Given the description of an element on the screen output the (x, y) to click on. 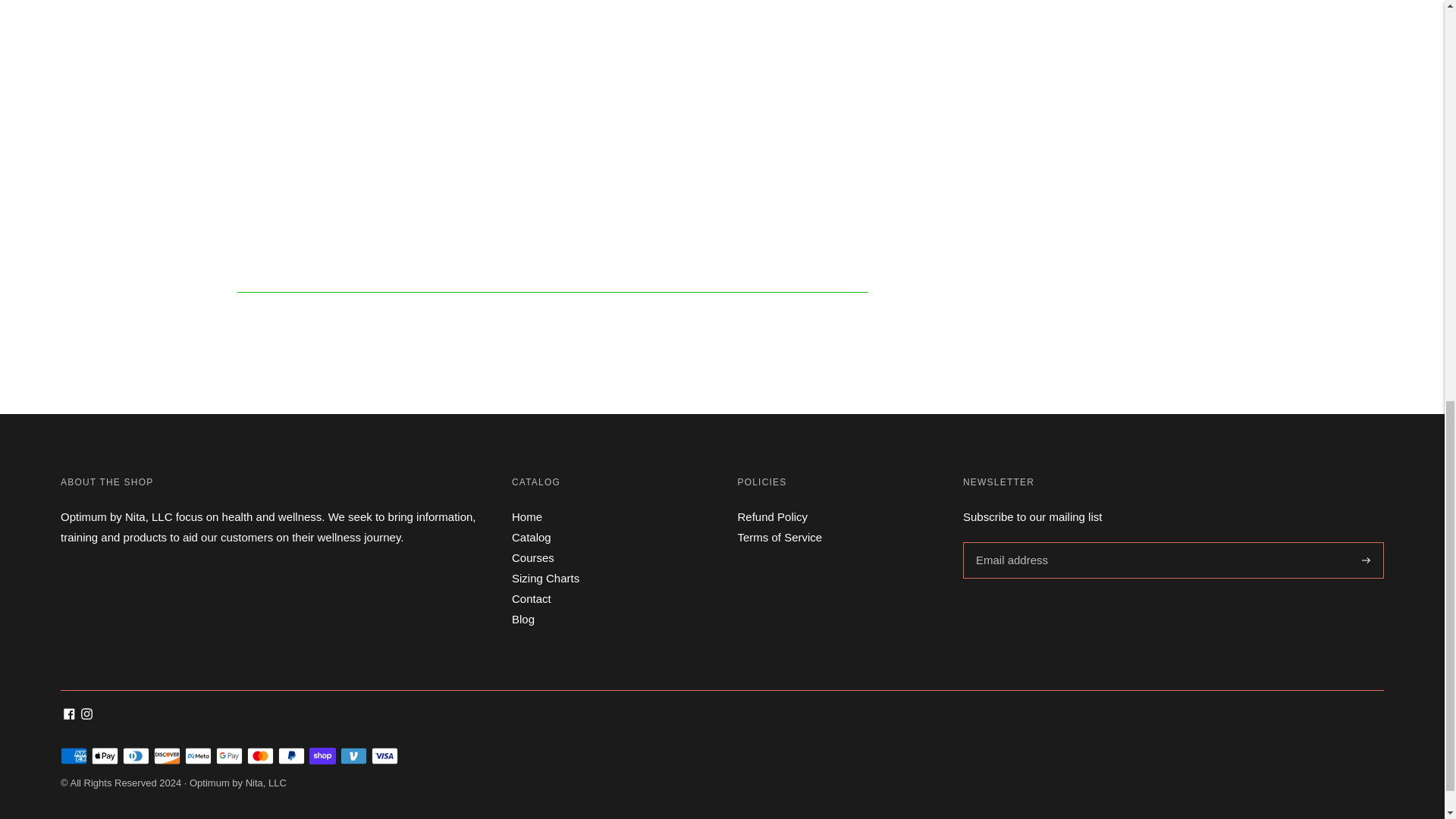
Apple Pay (104, 755)
Discover (167, 755)
Mastercard (260, 755)
Meta Pay (197, 755)
Shop Pay (322, 755)
American Express (74, 755)
Google Pay (229, 755)
Diners Club (135, 755)
PayPal (291, 755)
Venmo (353, 755)
Visa (384, 755)
